Given the description of an element on the screen output the (x, y) to click on. 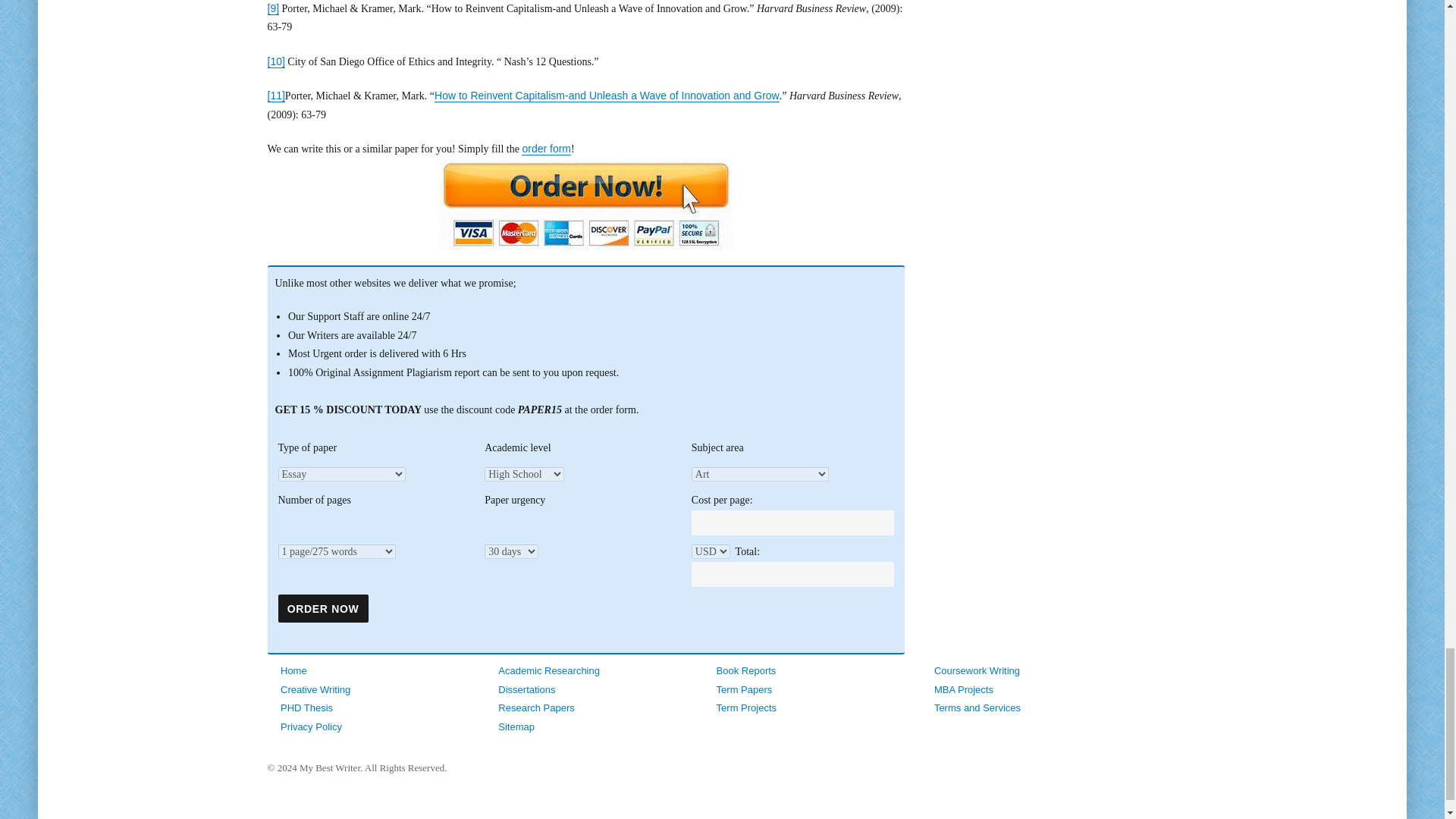
Order total (792, 574)
Order Now (323, 608)
Academic level (524, 473)
Cost per page (792, 523)
Paper urgency (511, 551)
Subject area (759, 473)
Number of pages (336, 551)
Type of paper (379, 474)
